Given the description of an element on the screen output the (x, y) to click on. 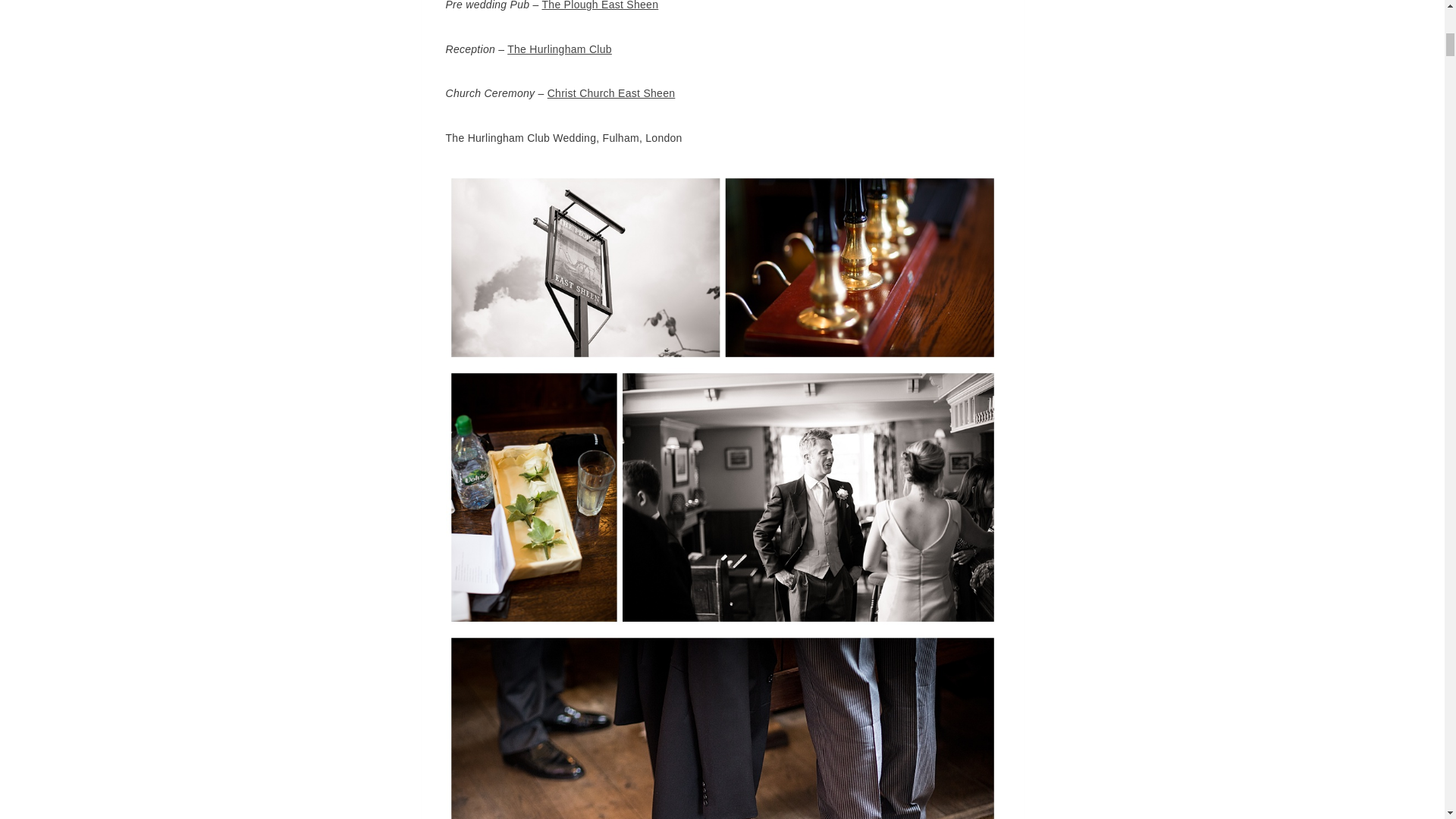
The Plough East Sheen (599, 5)
Christ Church East Sheen (611, 92)
The Hurlingham Club (558, 49)
